Given the description of an element on the screen output the (x, y) to click on. 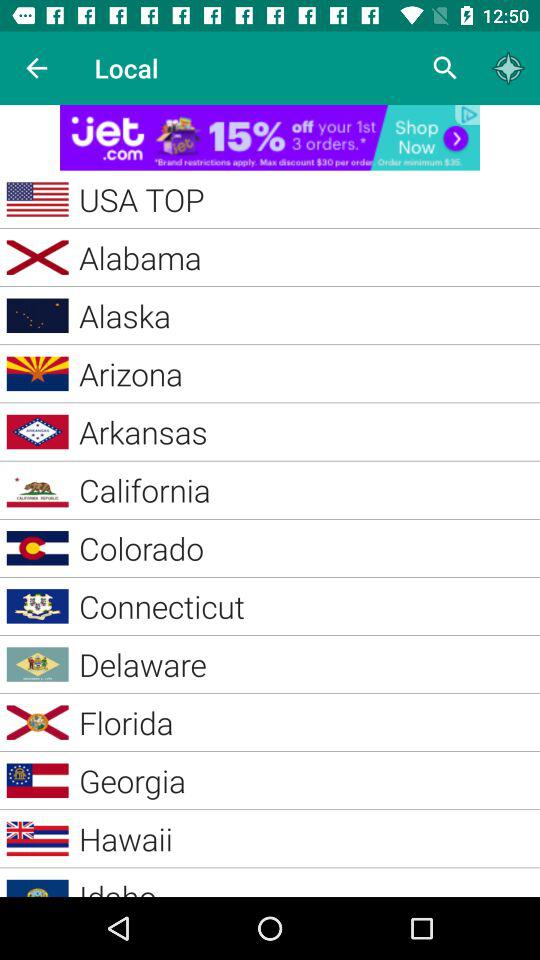
search (445, 67)
